Given the description of an element on the screen output the (x, y) to click on. 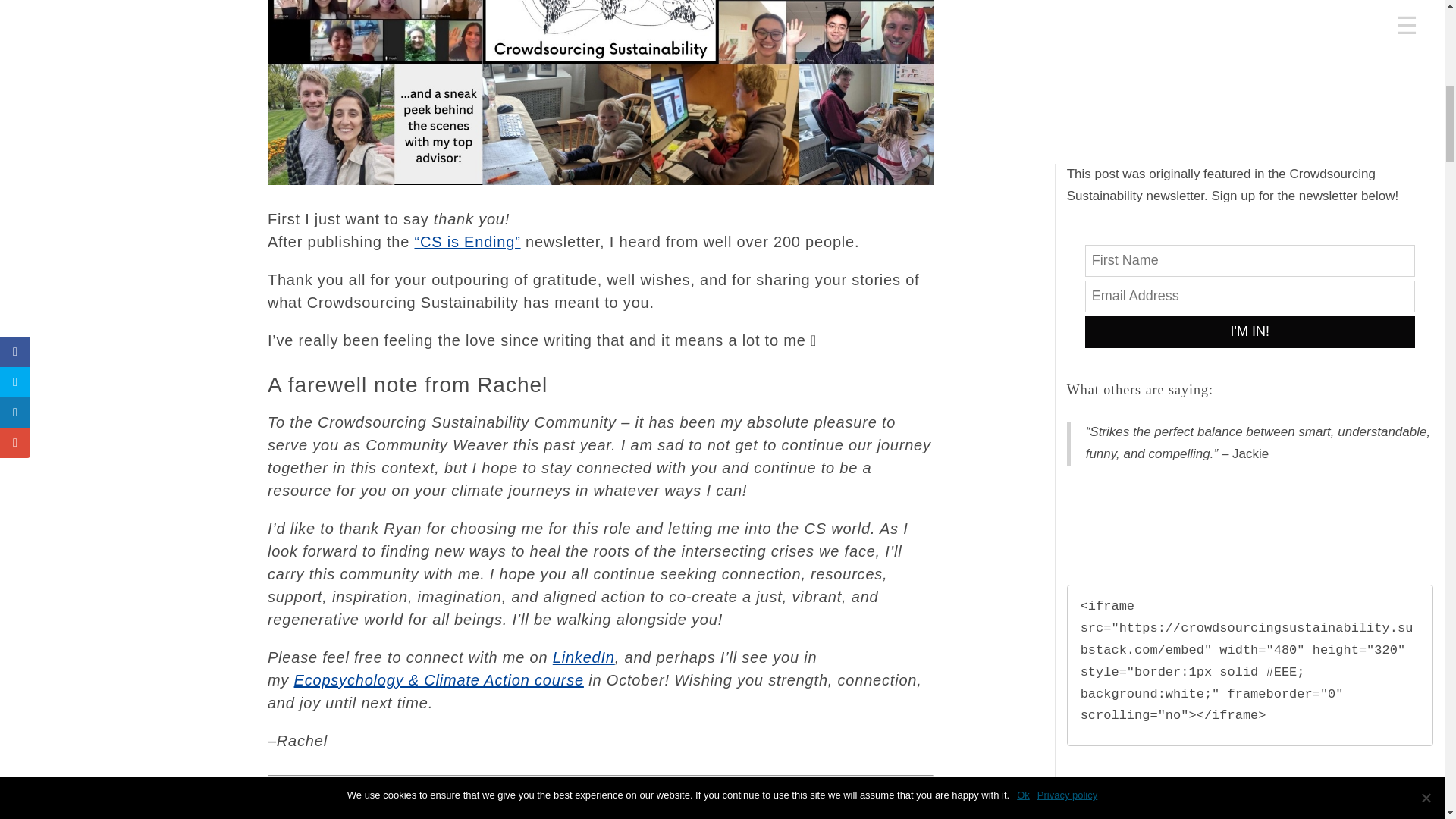
LinkedIn (583, 657)
